Given the description of an element on the screen output the (x, y) to click on. 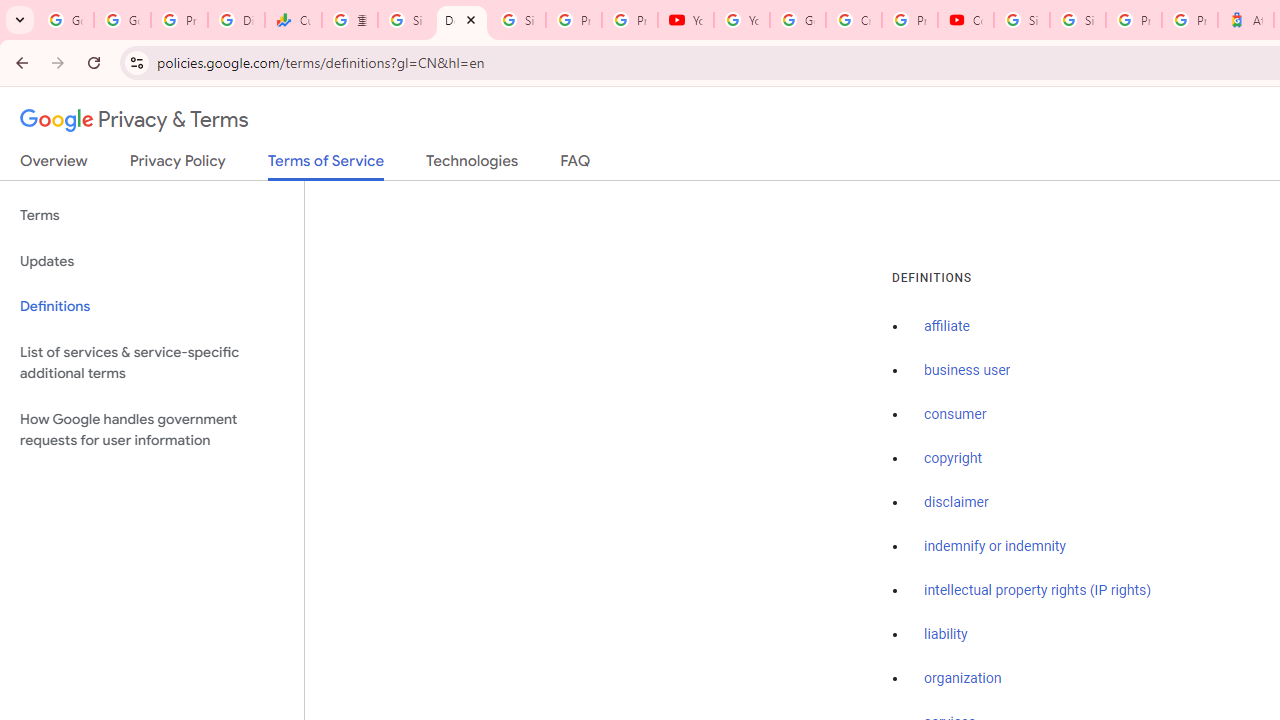
Google Account Help (797, 20)
business user (967, 371)
organization (963, 679)
YouTube (685, 20)
intellectual property rights (IP rights) (1038, 590)
